Given the description of an element on the screen output the (x, y) to click on. 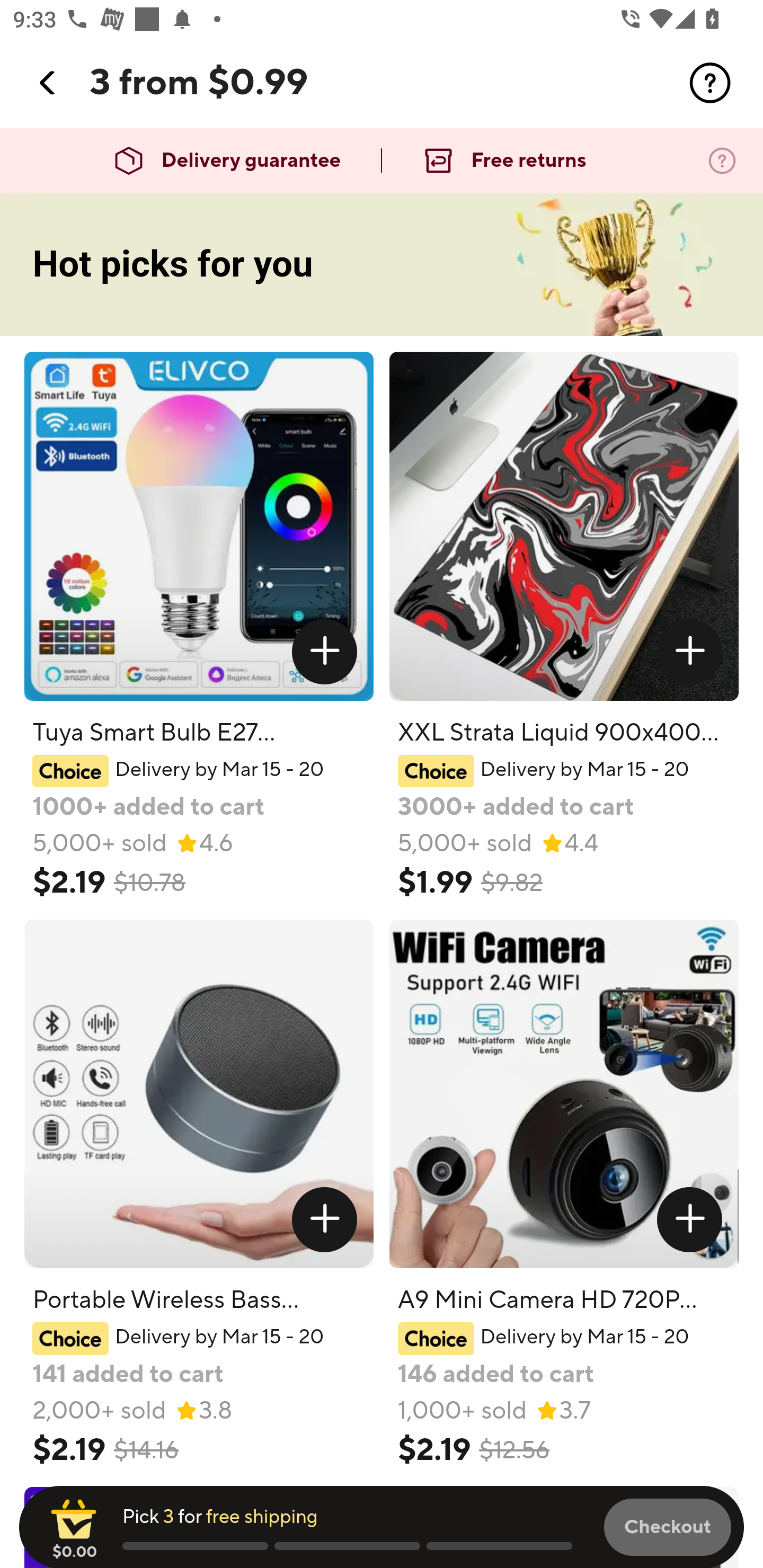
 (710, 82)
 (48, 82)
Hot picks for you (381, 264)
 (323, 651)
 (689, 651)
 (323, 1218)
 (689, 1218)
